Given the description of an element on the screen output the (x, y) to click on. 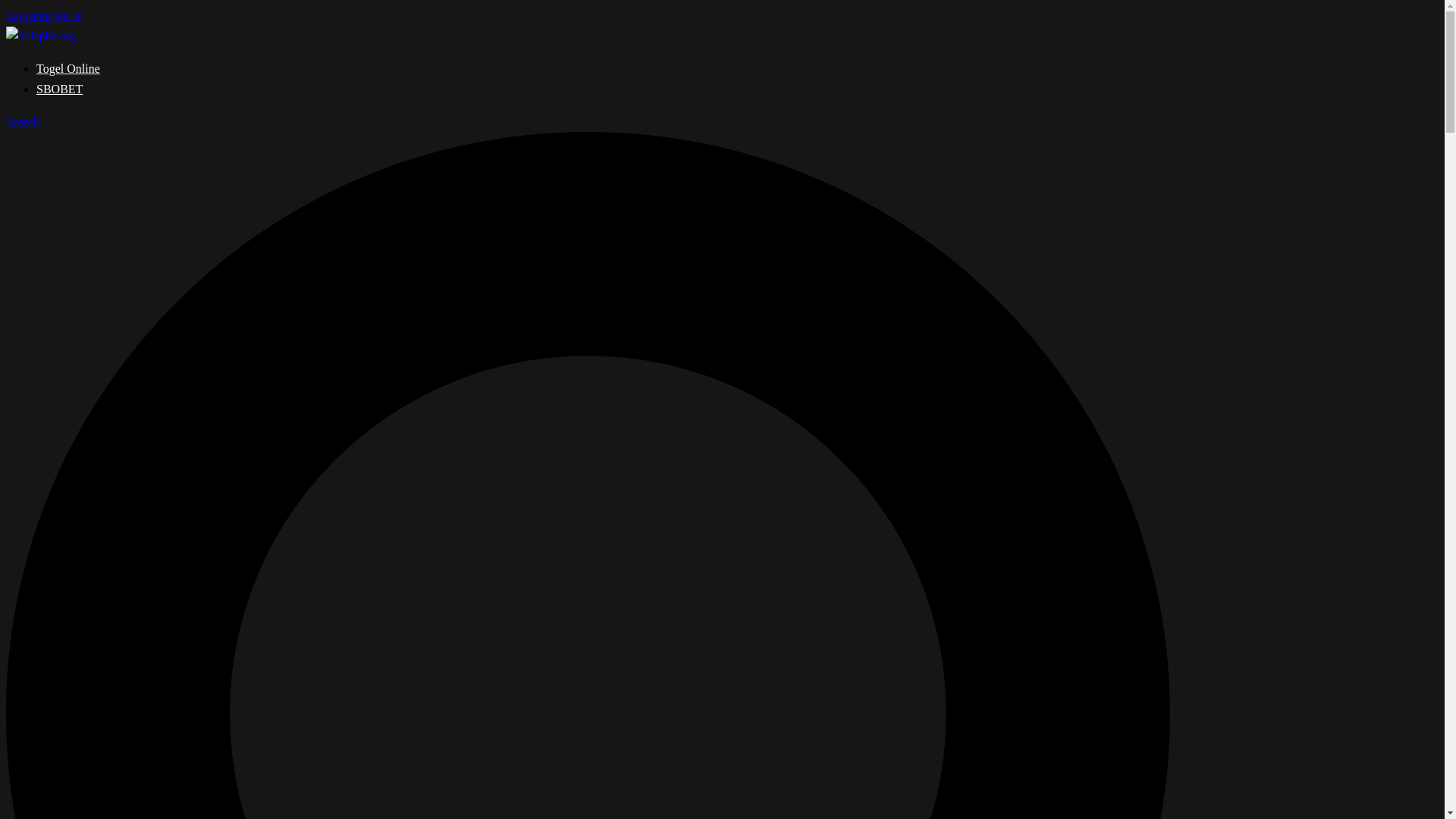
hofspha.org (40, 35)
SBOBET (59, 88)
Langsung ke isi (43, 15)
Togel Online (68, 68)
